Given the description of an element on the screen output the (x, y) to click on. 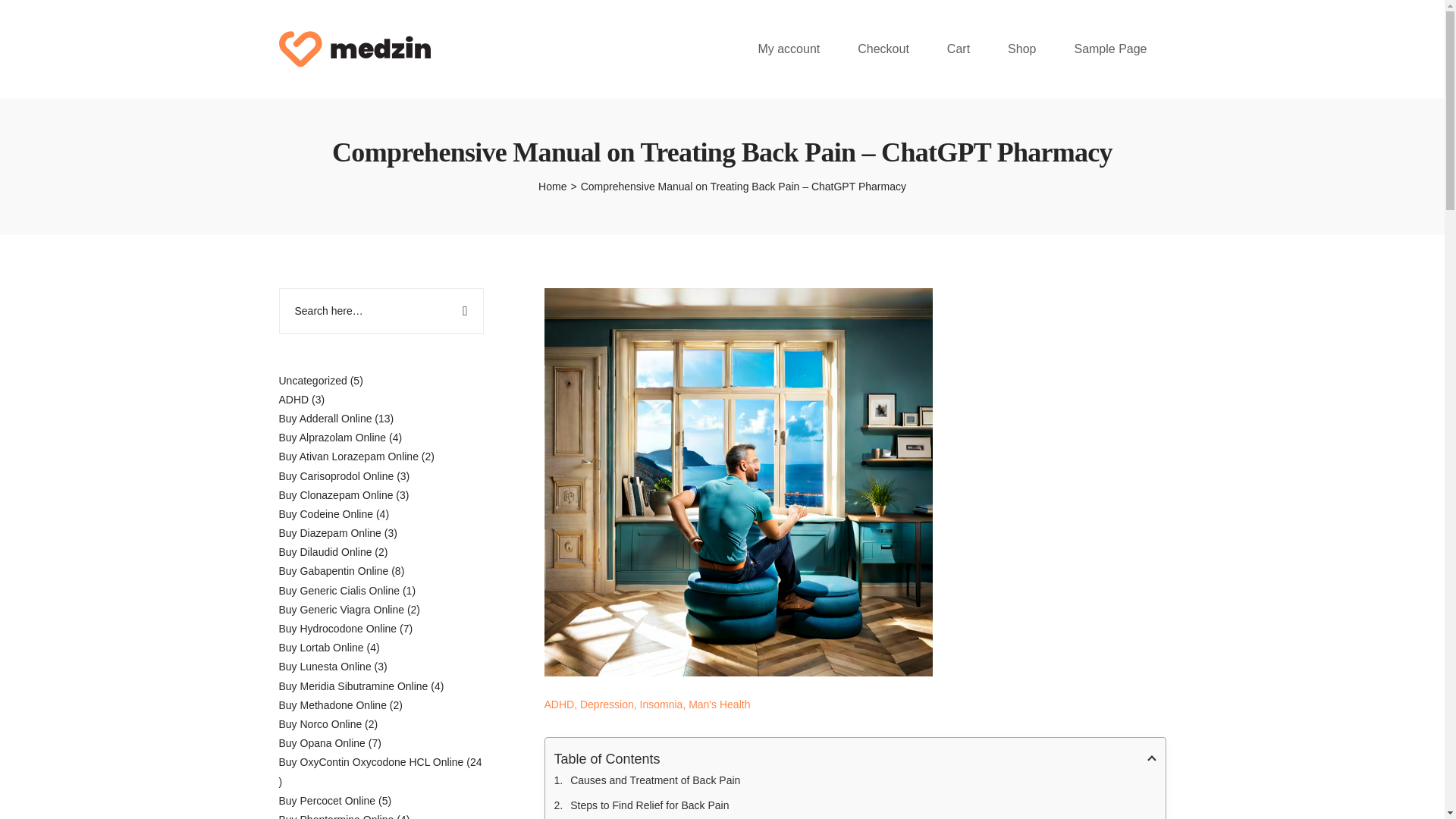
Buy Diazepam Online (330, 532)
ADHD (293, 399)
Buy Lunesta Online (325, 666)
Buy Meridia Sibutramine Online (353, 686)
Buy Alprazolam Online (333, 437)
Buy Clonazepam Online (336, 494)
Buy Lortab Online (321, 647)
Buy Hydrocodone Online (338, 628)
Buy Carisoprodol Online (336, 476)
My account (788, 49)
